Given the description of an element on the screen output the (x, y) to click on. 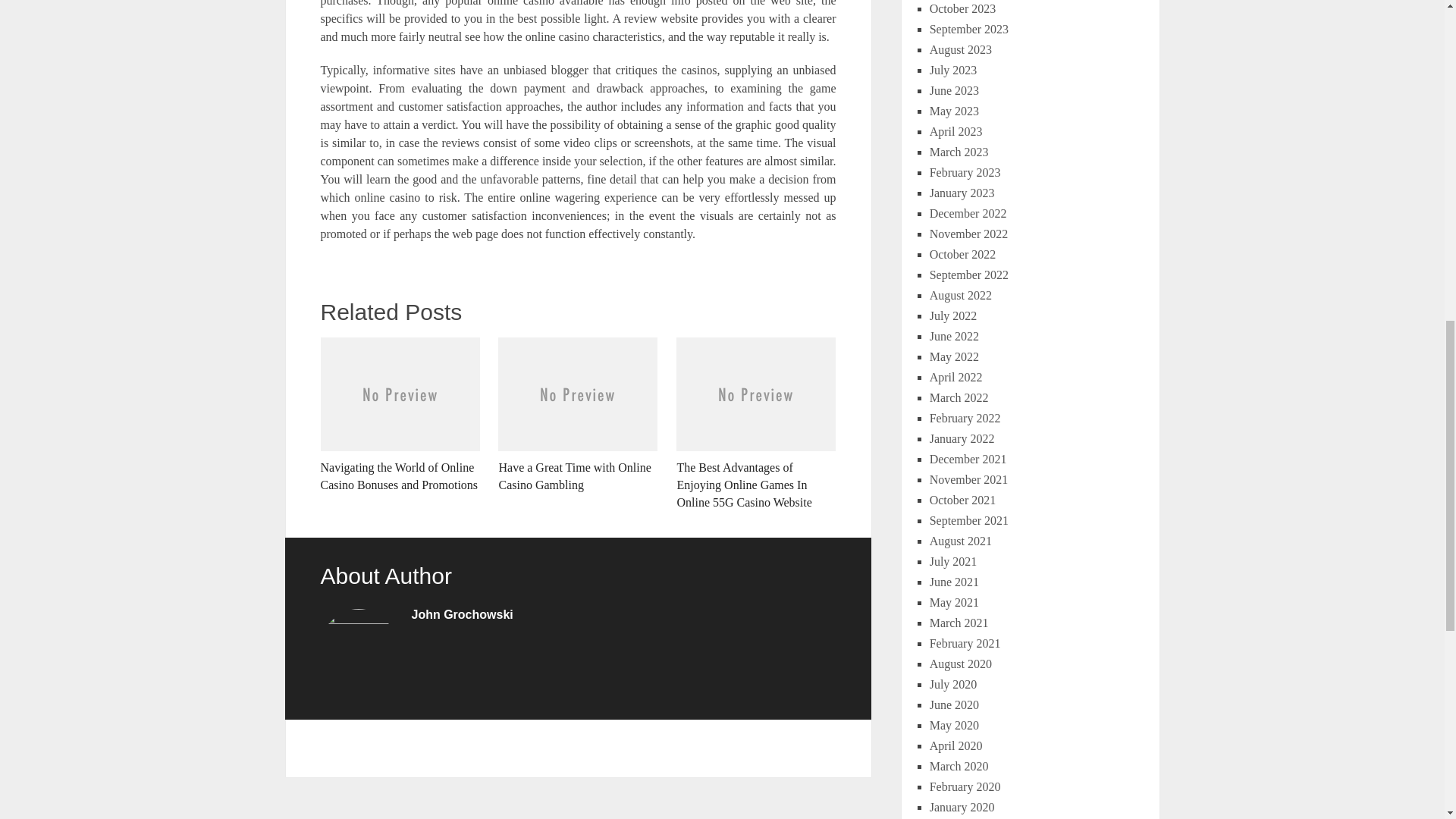
Navigating the World of Online Casino Bonuses and Promotions (399, 415)
February 2023 (965, 172)
Navigating the World of Online Casino Bonuses and Promotions (399, 415)
January 2023 (962, 192)
April 2023 (956, 131)
July 2023 (953, 69)
October 2023 (962, 8)
September 2023 (969, 29)
August 2023 (960, 49)
